Given the description of an element on the screen output the (x, y) to click on. 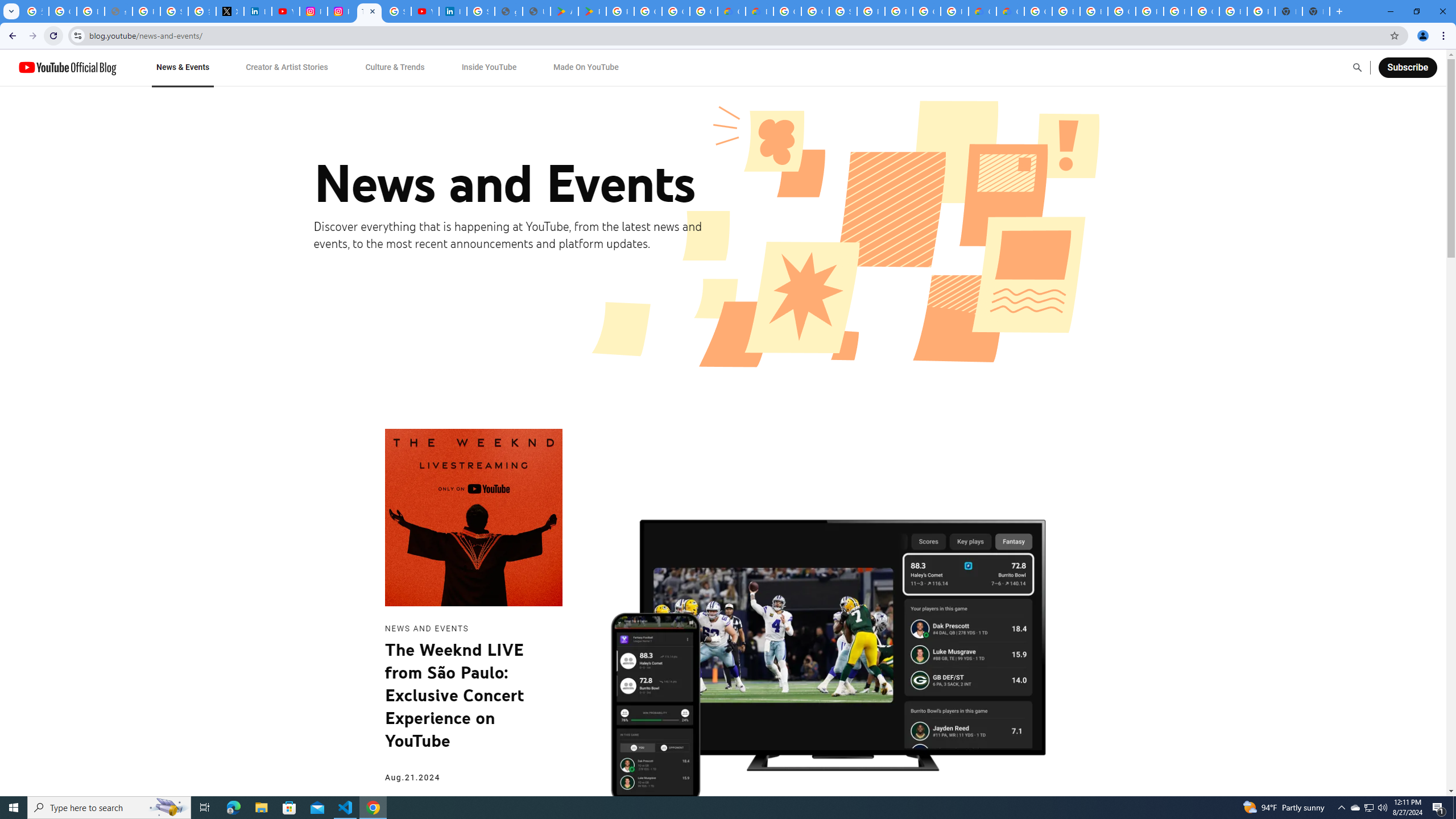
Made On YouTube (585, 67)
Open Search (1357, 67)
Creator & Artist Stories (287, 67)
Sign in - Google Accounts (397, 11)
Customer Care | Google Cloud (982, 11)
News & Events (182, 67)
PAW Patrol Rescue World - Apps on Google Play (592, 11)
